Given the description of an element on the screen output the (x, y) to click on. 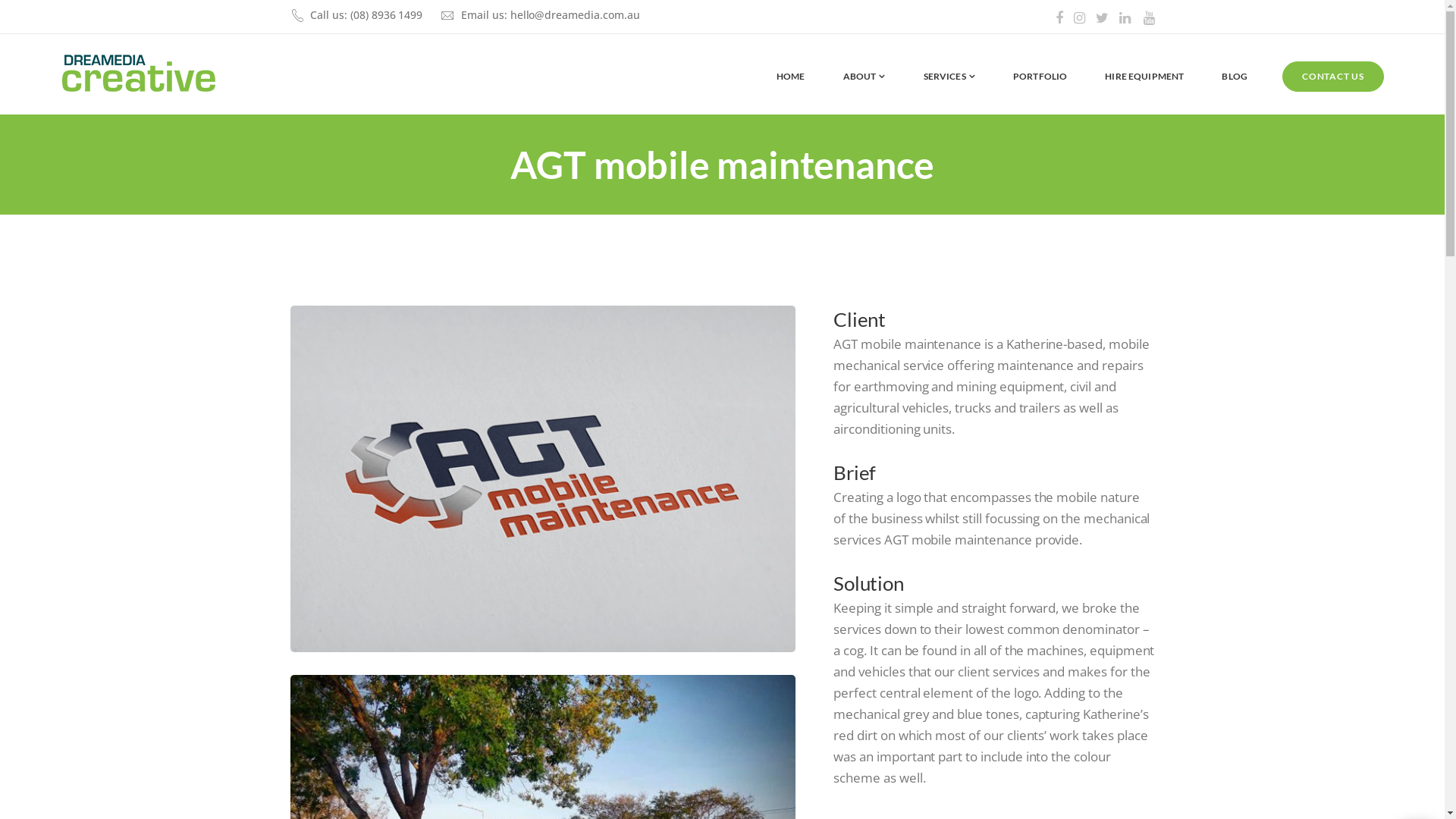
BLOG Element type: text (1234, 76)
PORTFOLIO Element type: text (1039, 76)
ABOUT Element type: text (864, 76)
HIRE EQUIPMENT Element type: text (1143, 76)
CONTACT US Element type: text (1332, 76)
HOME Element type: text (790, 76)
SERVICES Element type: text (949, 76)
hello@dreamedia.com.au Element type: text (575, 14)
(08) 8936 1499 Element type: text (386, 14)
